Given the description of an element on the screen output the (x, y) to click on. 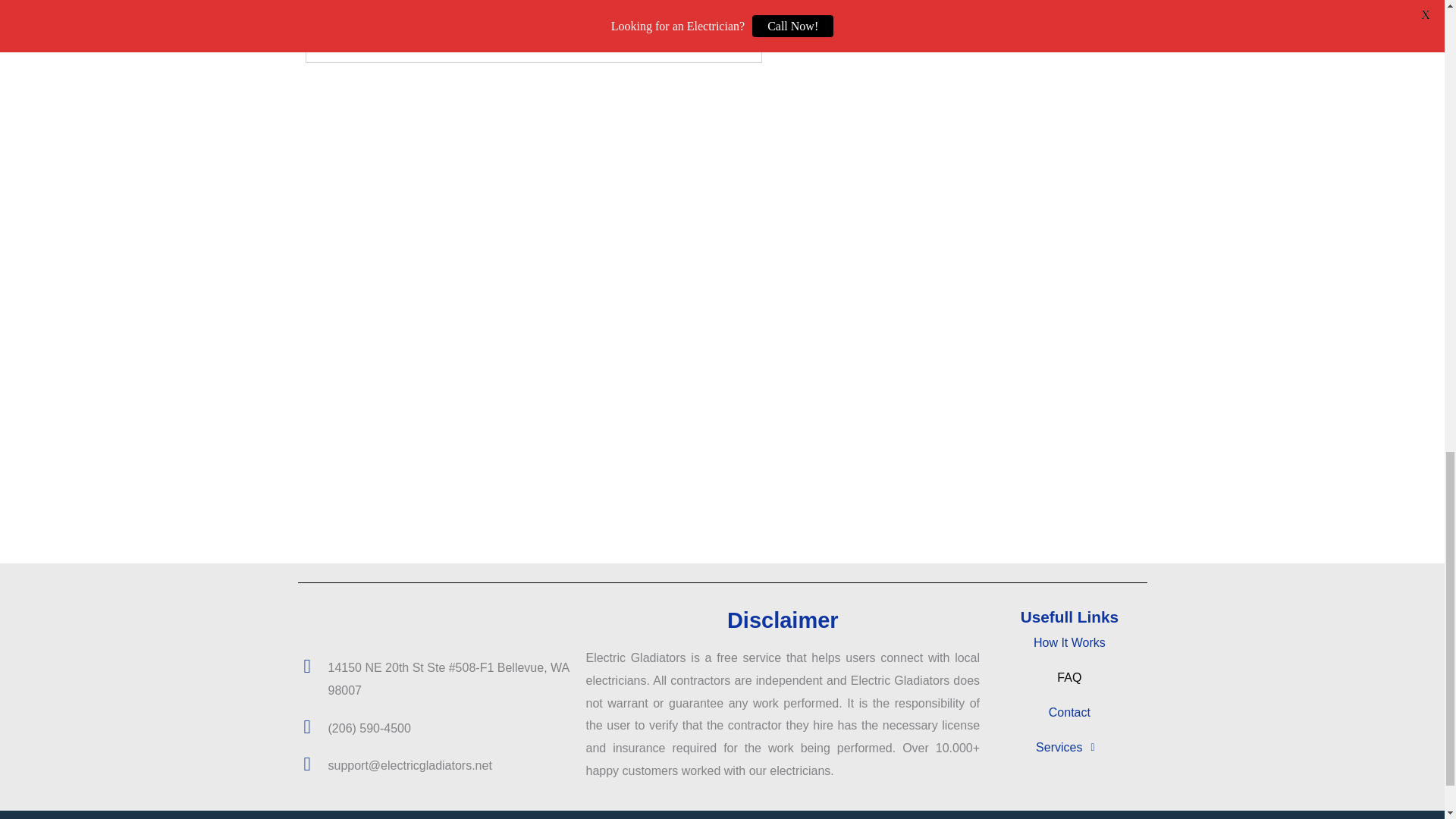
What precautions do I need to take around the holidays? (484, 8)
How It Works (1069, 642)
Contact (1069, 712)
Services (1069, 747)
FAQ (1069, 677)
